Given the description of an element on the screen output the (x, y) to click on. 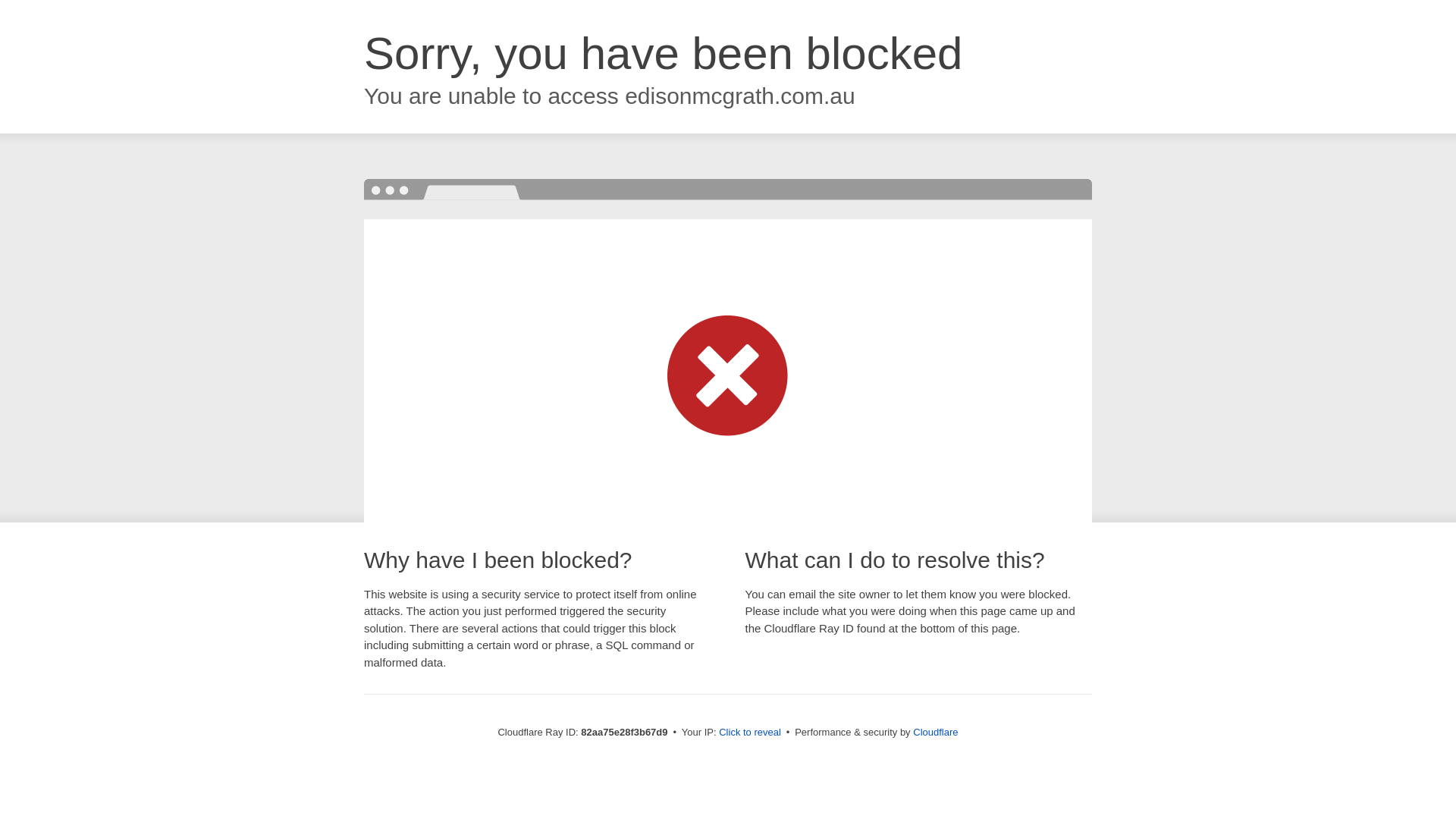
Cloudflare Element type: text (935, 731)
Click to reveal Element type: text (749, 732)
